Given the description of an element on the screen output the (x, y) to click on. 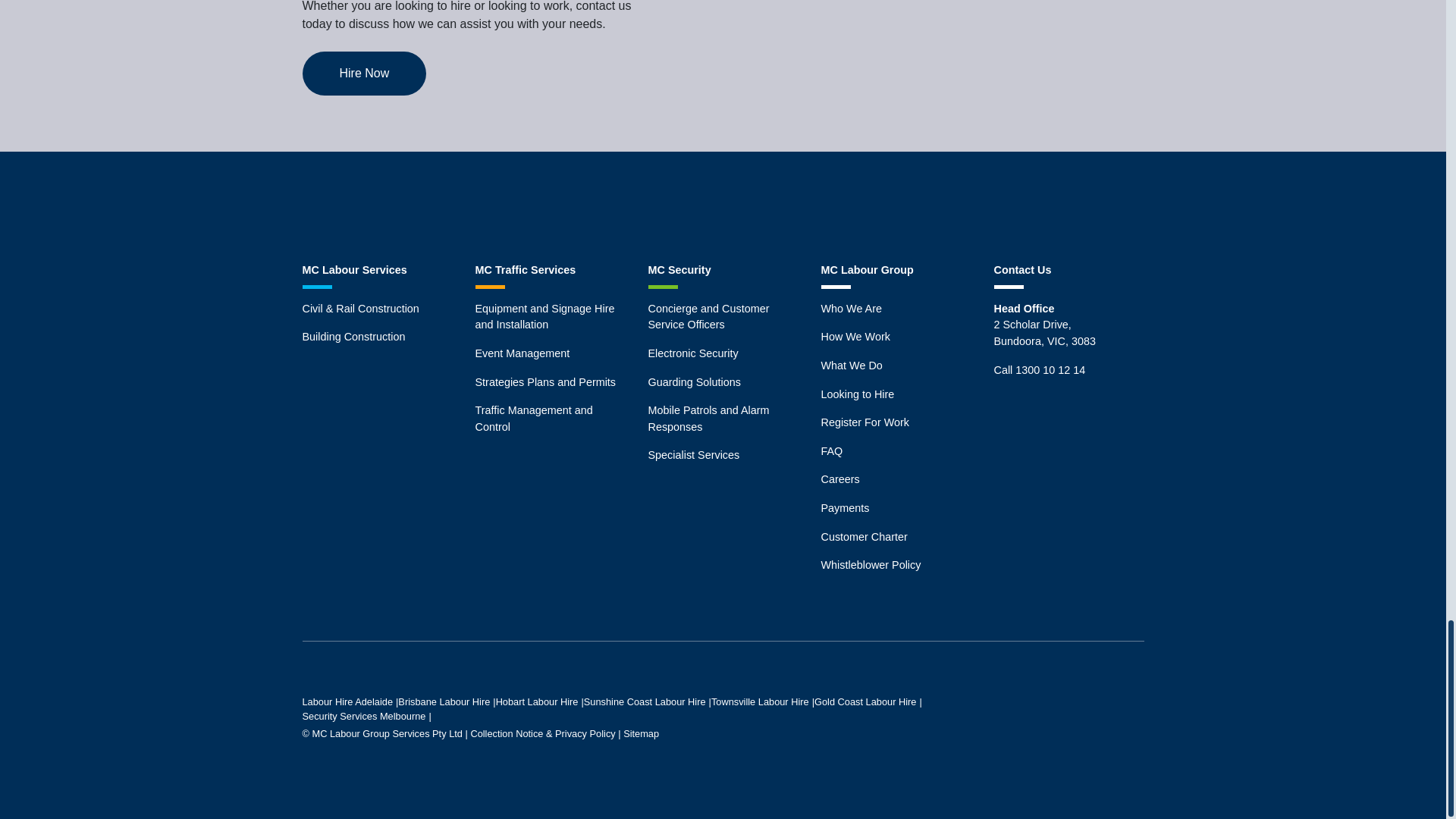
Hire Now (363, 73)
Follow MC Labour Group on Instagram (722, 207)
Like MC Labour Group on Facebook (669, 207)
Follow MC Labour Group on LinkedIn (775, 207)
